Given the description of an element on the screen output the (x, y) to click on. 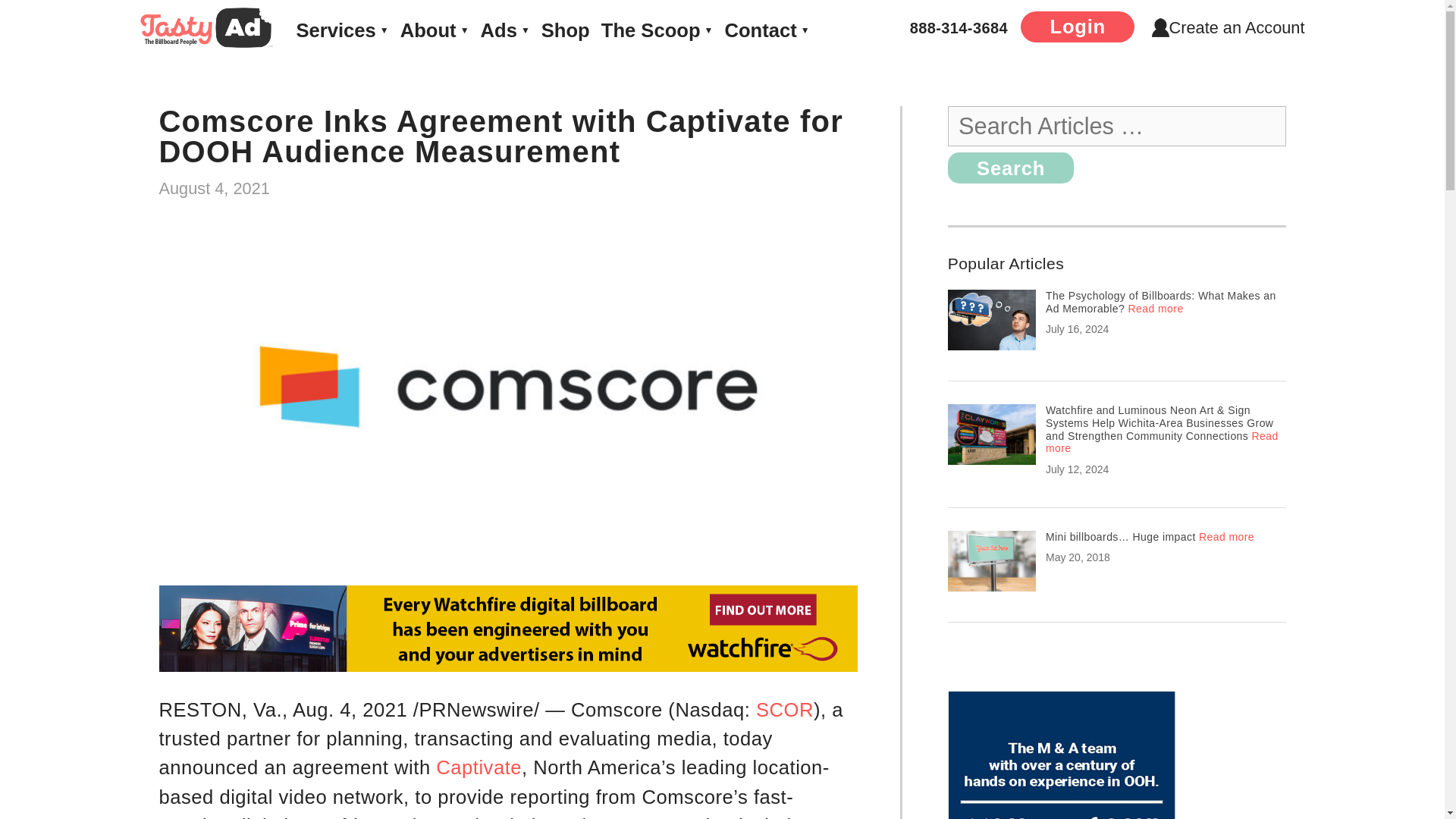
Create an Account (1227, 27)
The Scoop (657, 30)
Login (1077, 26)
888-314-3684 (958, 27)
Contact (766, 30)
Search (1010, 167)
Search (1010, 167)
About (434, 30)
Ads (504, 30)
Services (341, 30)
Shop (565, 30)
